Given the description of an element on the screen output the (x, y) to click on. 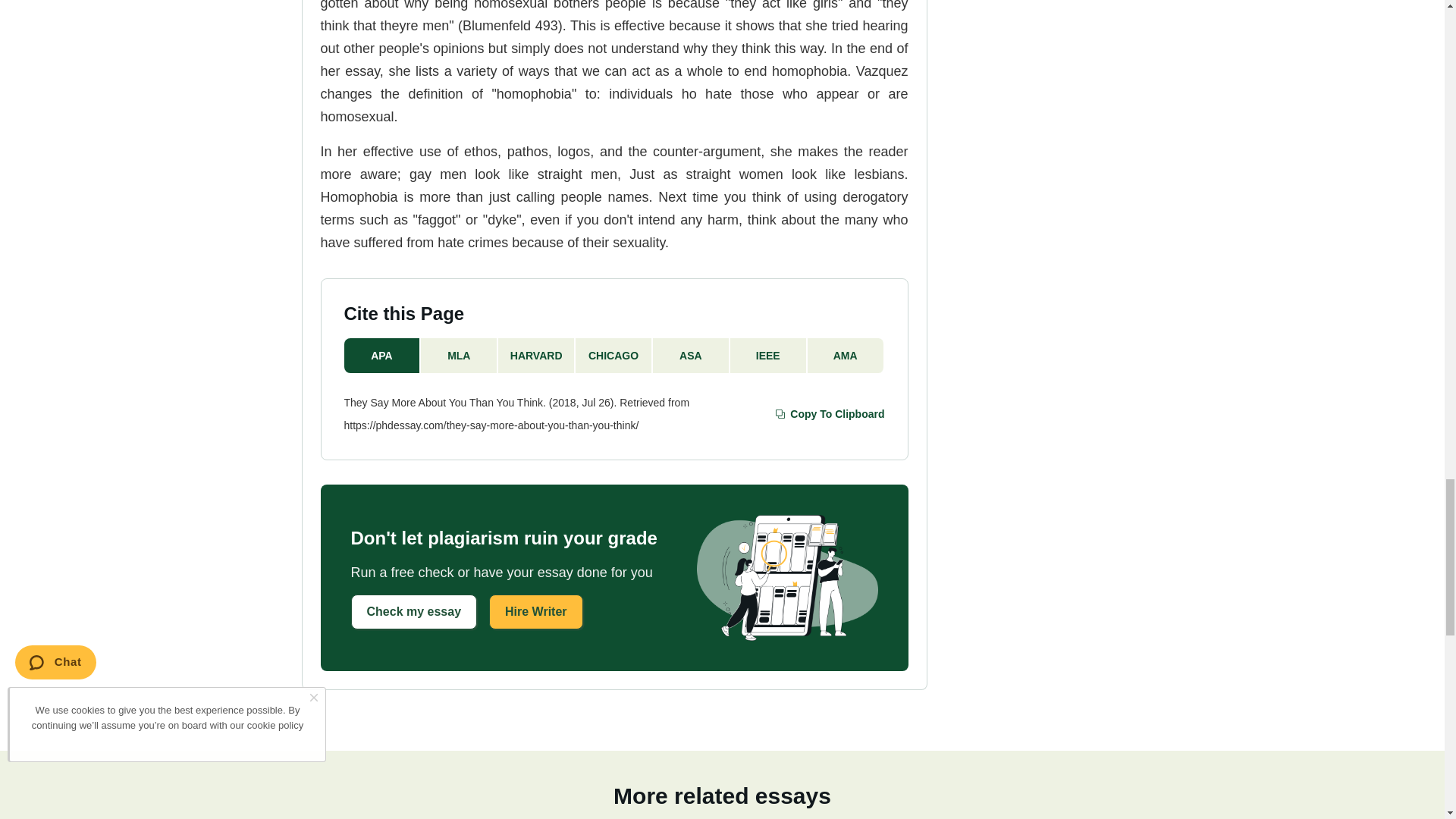
ASA (691, 355)
MLA (458, 355)
APA (382, 355)
HARVARD (536, 355)
CHICAGO (613, 355)
